Given the description of an element on the screen output the (x, y) to click on. 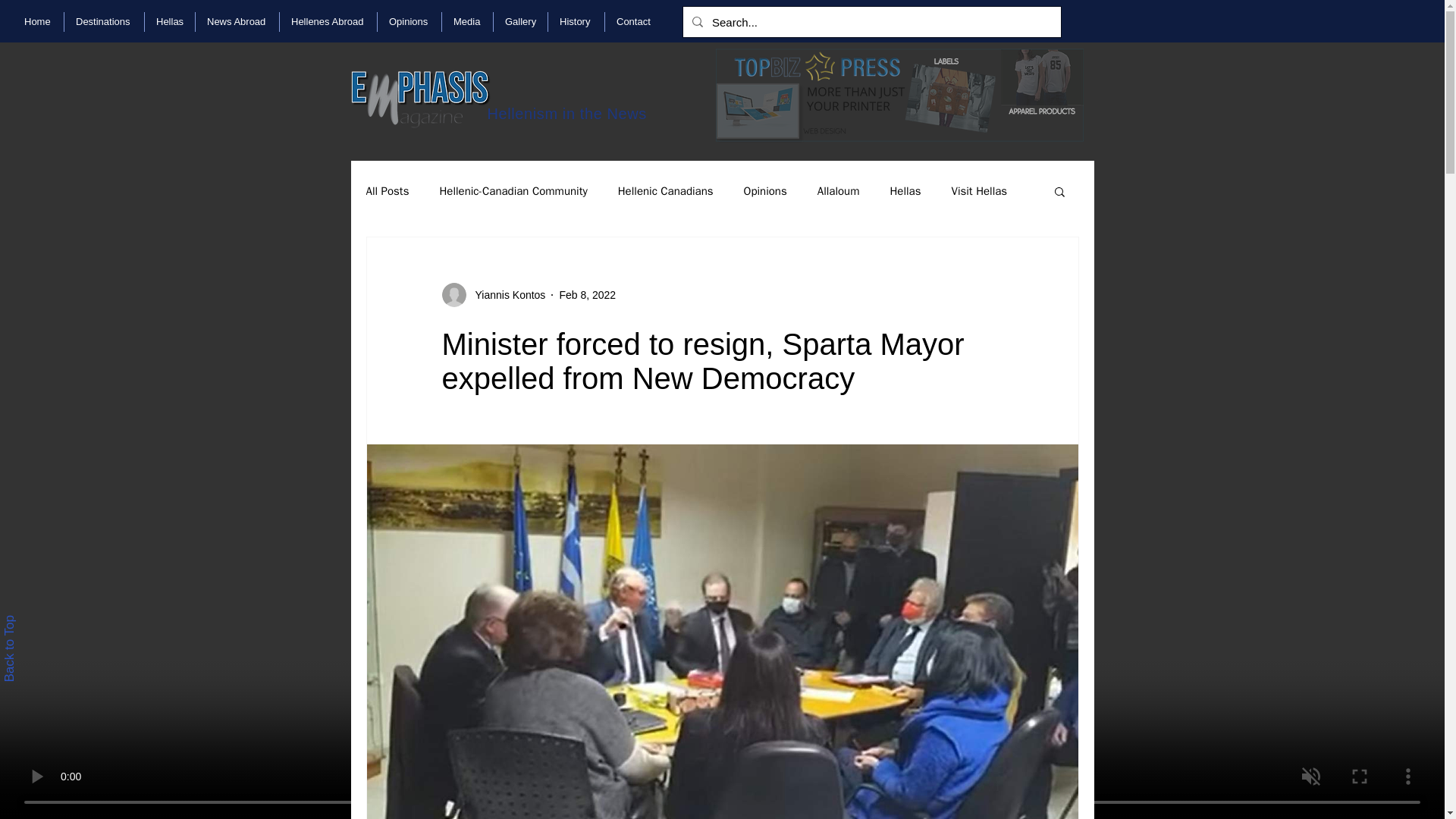
Feb 8, 2022 (587, 294)
Hellenes Abroad (328, 21)
Contact (634, 21)
Yiannis Kontos (504, 294)
All Posts (387, 190)
Hellas (169, 21)
History (576, 21)
Destinations (104, 21)
Gallery (520, 21)
Hellenic-Canadian Community (512, 190)
Media (467, 21)
News Abroad (237, 21)
Home (38, 21)
Opinions (409, 21)
TopBiz Press.jpg (899, 95)
